Given the description of an element on the screen output the (x, y) to click on. 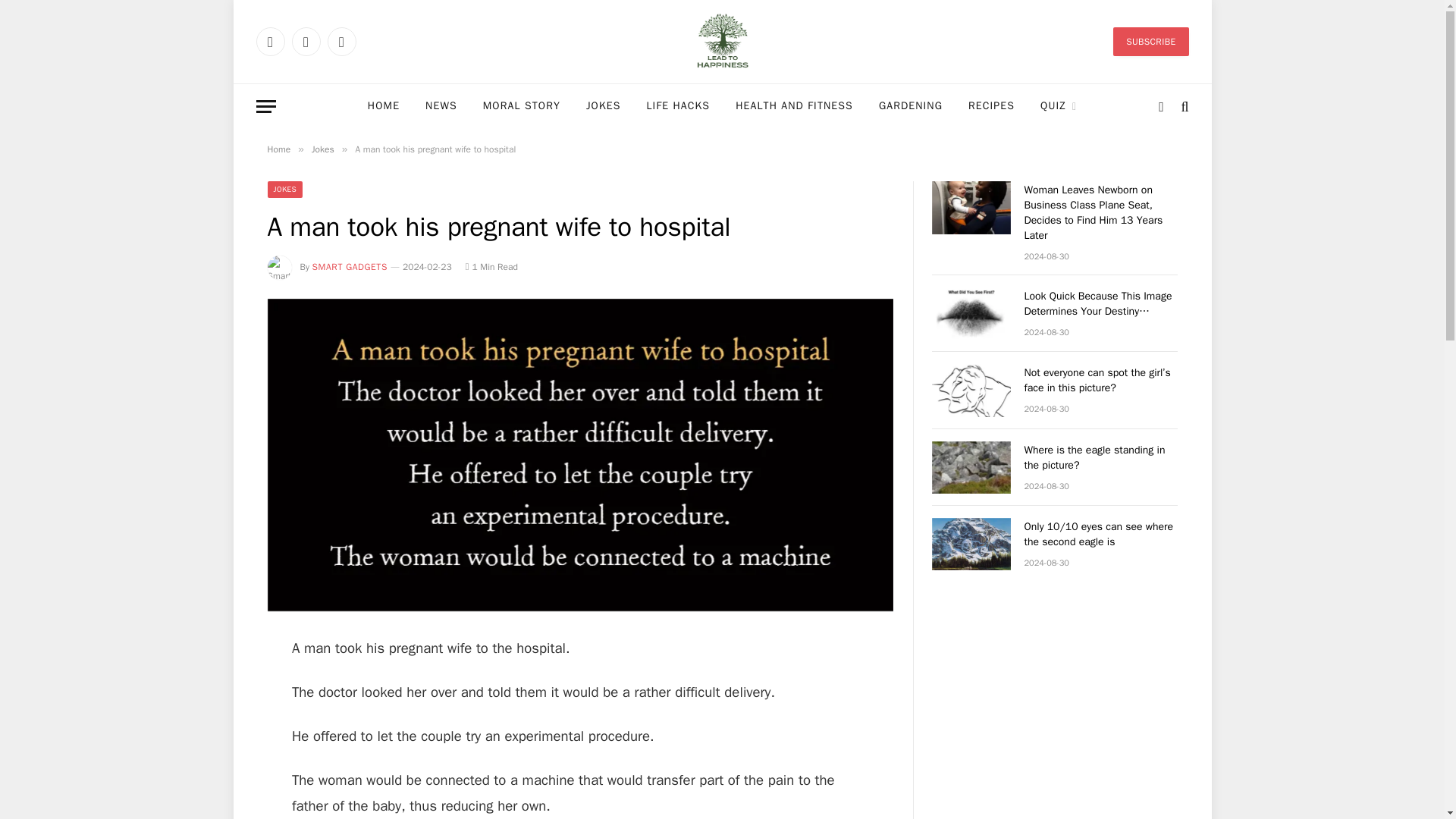
QUIZ (1058, 106)
Posts by Smart Gadgets (350, 266)
Instagram (341, 41)
Facebook (270, 41)
Switch to Dark Design - easier on eyes. (1160, 106)
HOME (383, 106)
HEALTH AND FITNESS (794, 106)
NEWS (441, 106)
SUBSCRIBE (1150, 41)
LIFE HACKS (678, 106)
